Given the description of an element on the screen output the (x, y) to click on. 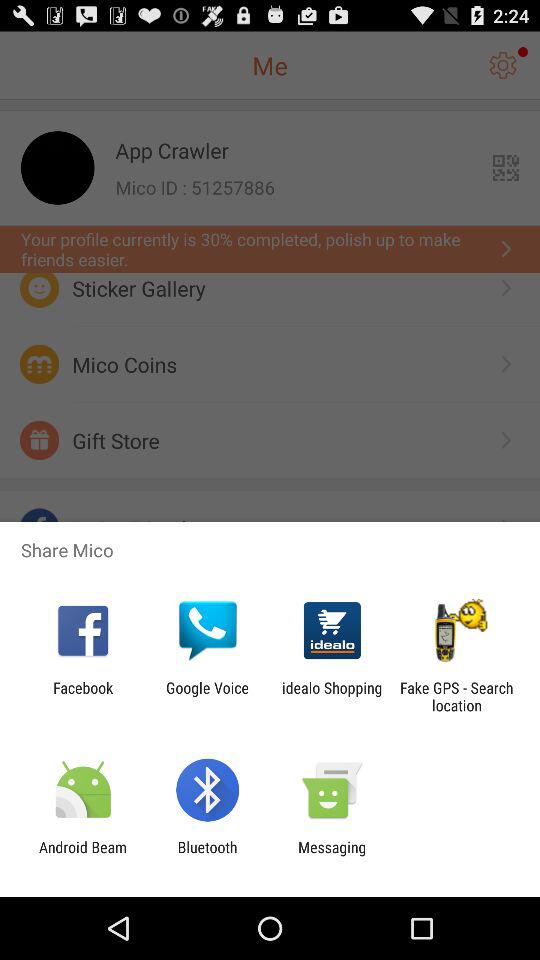
open icon to the right of android beam icon (207, 856)
